Given the description of an element on the screen output the (x, y) to click on. 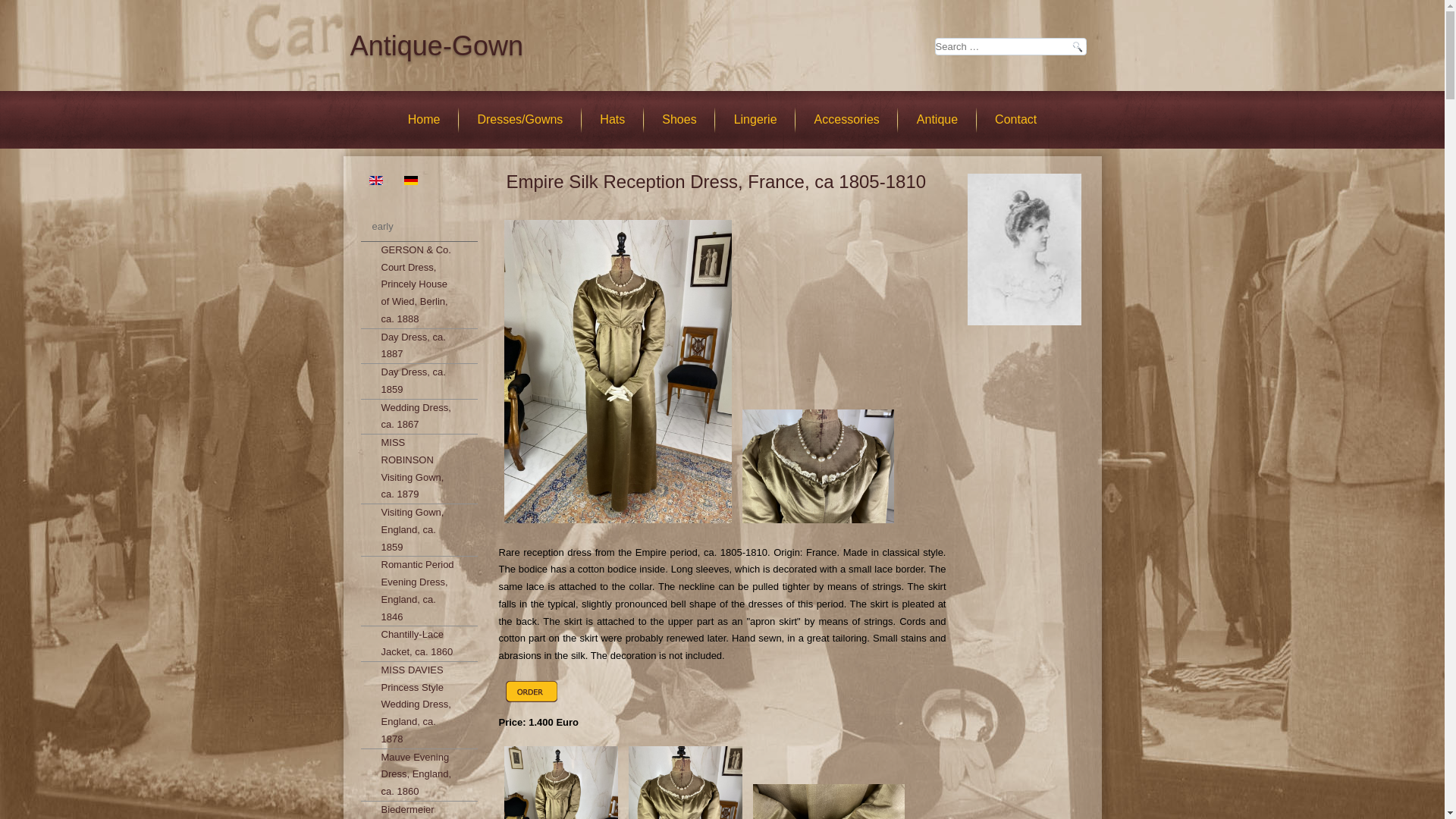
Mauve Evening Dress, England, ca. 1860 (419, 774)
1 antique empire silk dress 1805 (817, 524)
Wedding Dress, ca. 1867 (419, 416)
Search (1076, 46)
Home (424, 119)
Day Dress, ca. 1887 (419, 346)
Contact (1015, 119)
Biedermeier Evening Dress, Austria, ca. 1845 (419, 810)
Romantic Period Evening Dress, England, ca. 1846 (419, 590)
Hats (612, 119)
Day Dress, ca. 1859 (419, 380)
antique empire silk dress 1805 (617, 524)
Antique (936, 119)
Search (1076, 46)
MISS ROBINSON Visiting Gown, ca. 1879 (419, 468)
